Given the description of an element on the screen output the (x, y) to click on. 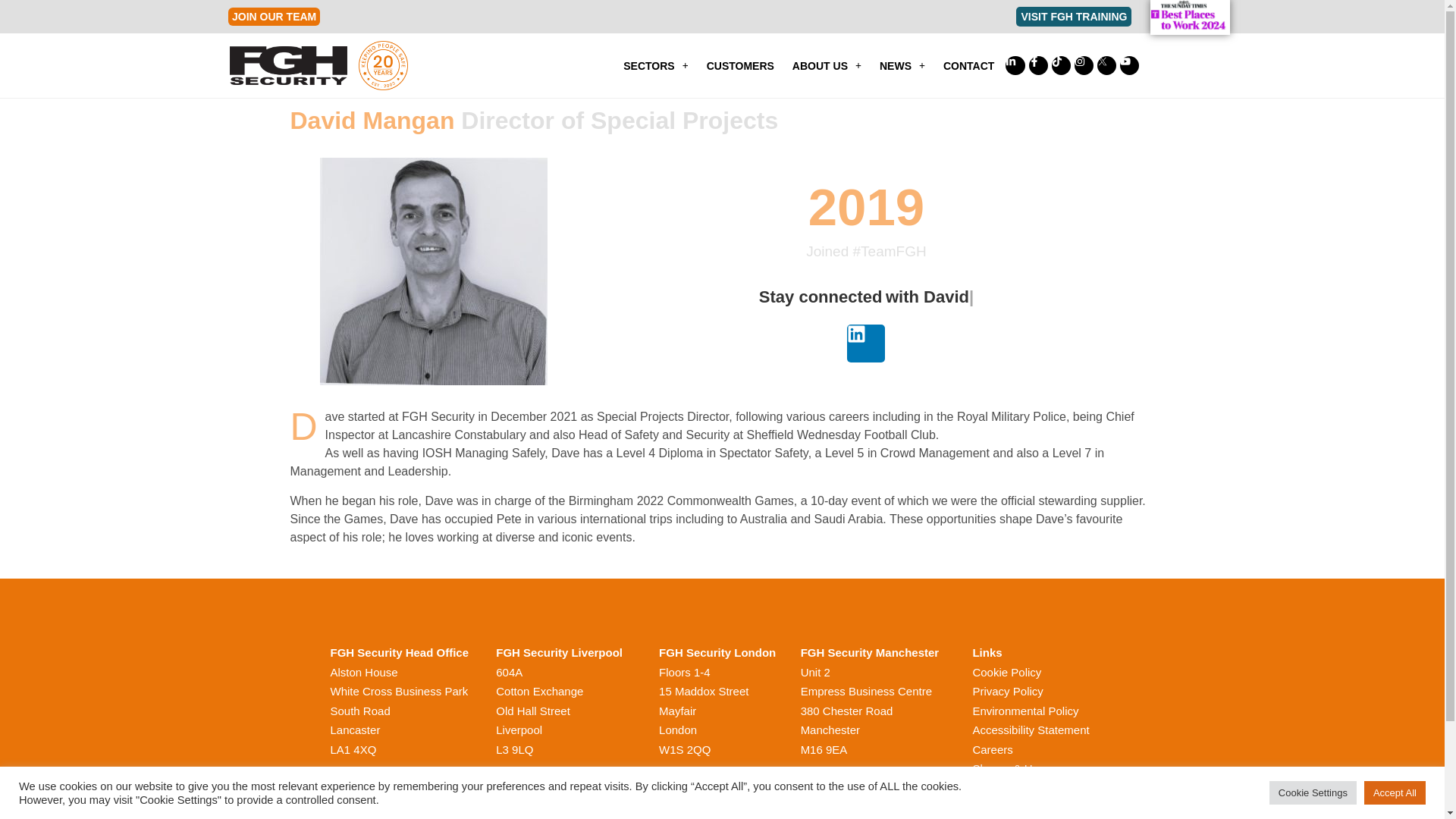
CUSTOMERS (740, 65)
JOIN OUR TEAM (274, 16)
CONTACT (968, 65)
NEWS (902, 65)
ABOUT US (826, 65)
VISIT FGH TRAINING (1073, 16)
SECTORS (655, 65)
